Given the description of an element on the screen output the (x, y) to click on. 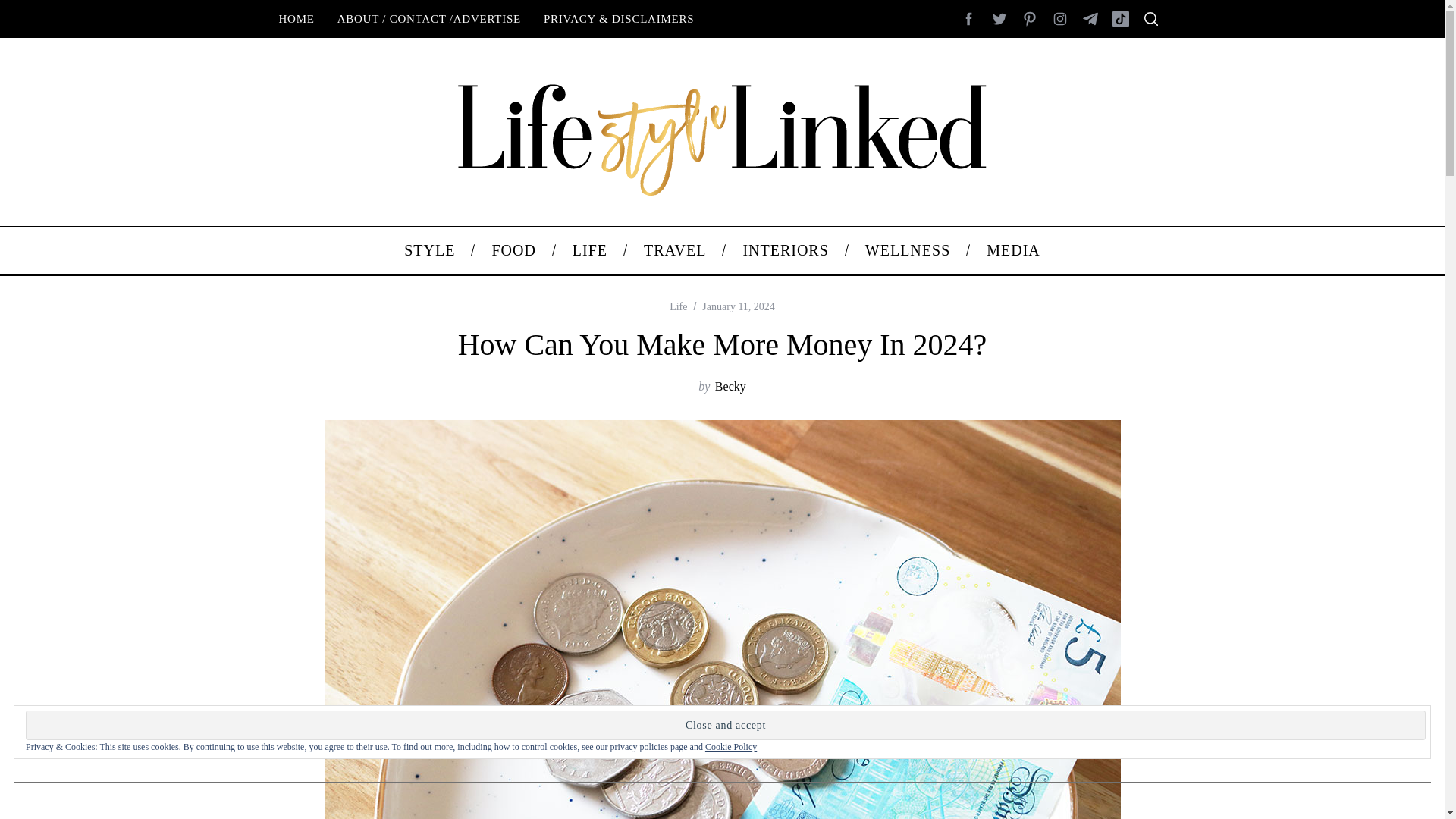
INTERIORS (784, 249)
Close and accept (725, 725)
FOOD (513, 249)
STYLE (429, 249)
WELLNESS (907, 249)
LIFE (590, 249)
MEDIA (1013, 249)
Life (678, 306)
HOME (295, 18)
TRAVEL (674, 249)
